Given the description of an element on the screen output the (x, y) to click on. 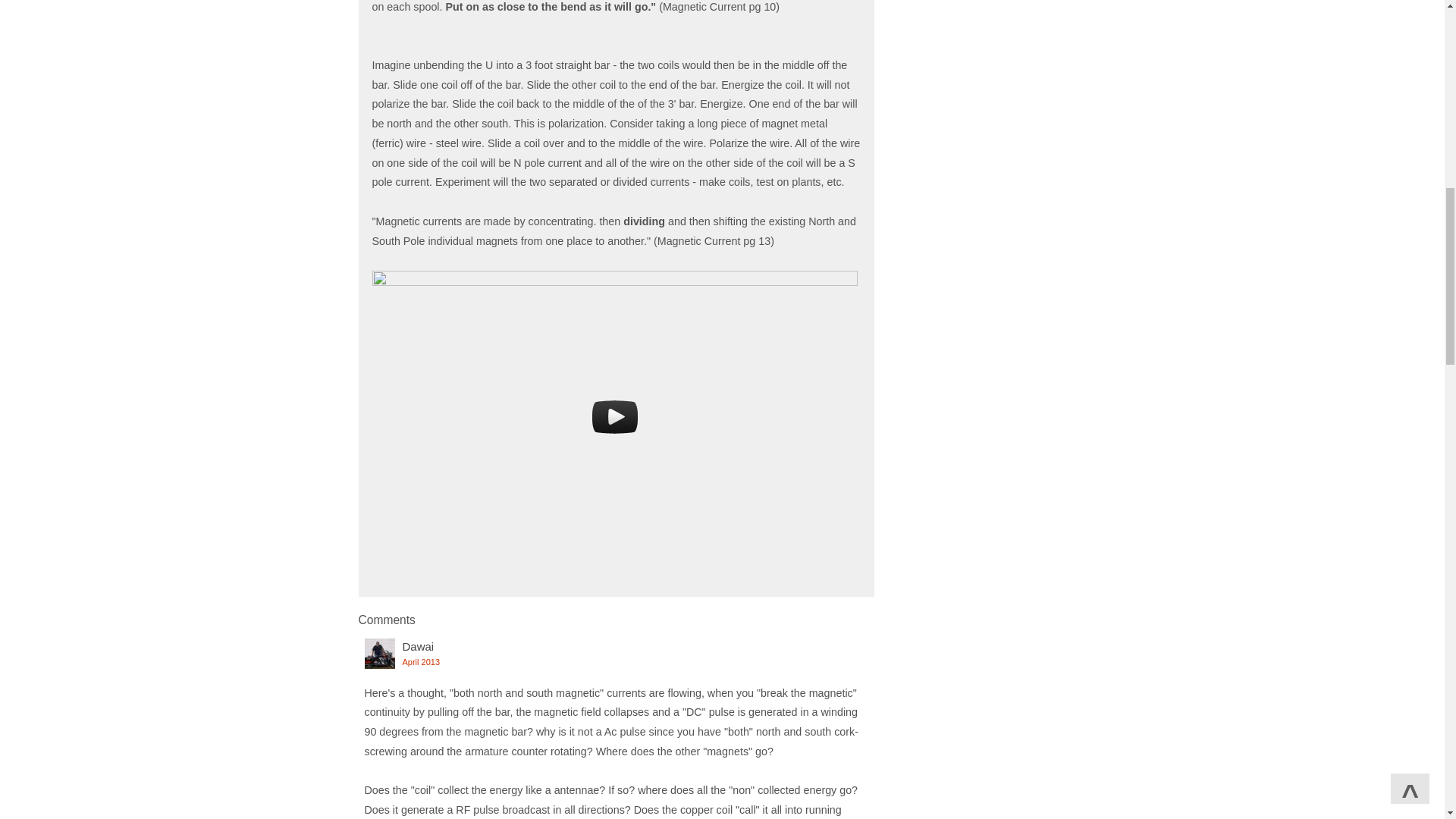
Dawai (379, 653)
Dawai (417, 645)
April 2013 (420, 661)
April 15, 2013  9:16AM (420, 661)
